Given the description of an element on the screen output the (x, y) to click on. 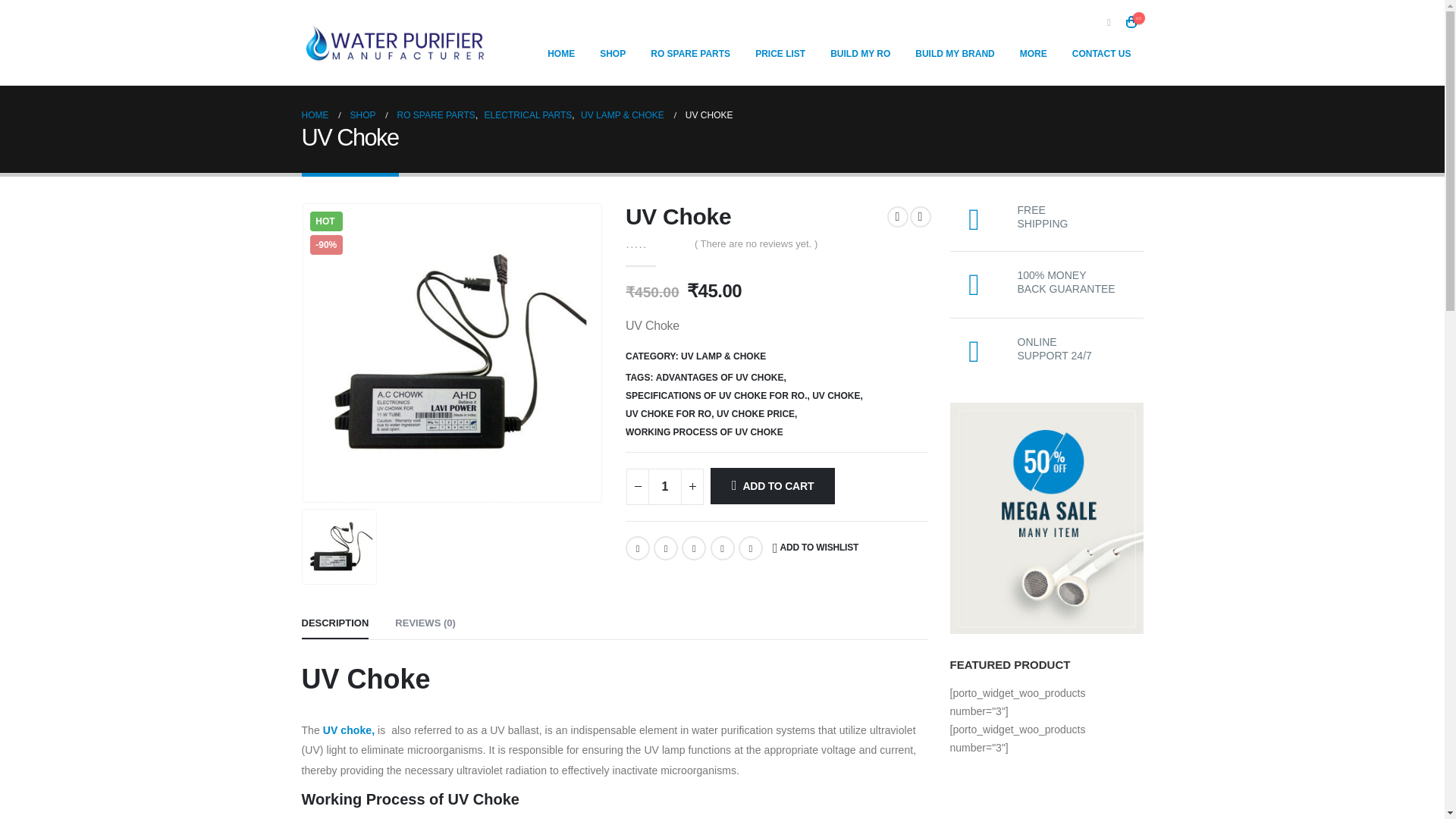
Go to Home Page (315, 115)
Facebook (637, 548)
HOME (560, 53)
LinkedIn (693, 548)
RO SPARE PARTS (690, 53)
SHOP (612, 53)
1 (664, 486)
0 (655, 243)
uv-choke-for-ro (452, 352)
Email (750, 548)
Twitter (665, 548)
